Given the description of an element on the screen output the (x, y) to click on. 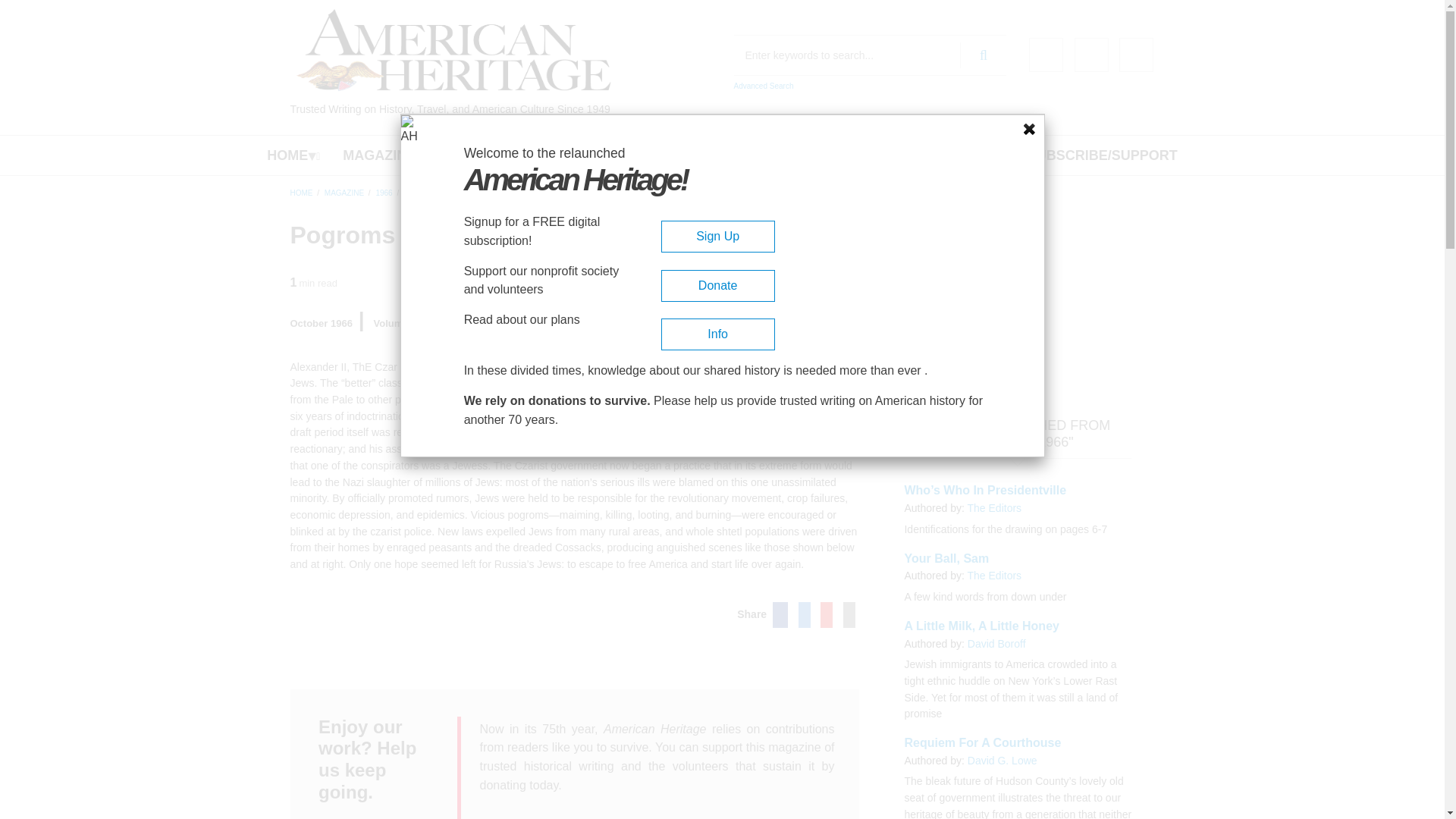
Twitter (1091, 54)
Search (982, 54)
Advanced Search (763, 85)
Search (982, 54)
Enter the terms you wish to search for. (870, 55)
Home (453, 50)
Search (982, 54)
RSS (1136, 54)
Facebook (1045, 54)
